Given the description of an element on the screen output the (x, y) to click on. 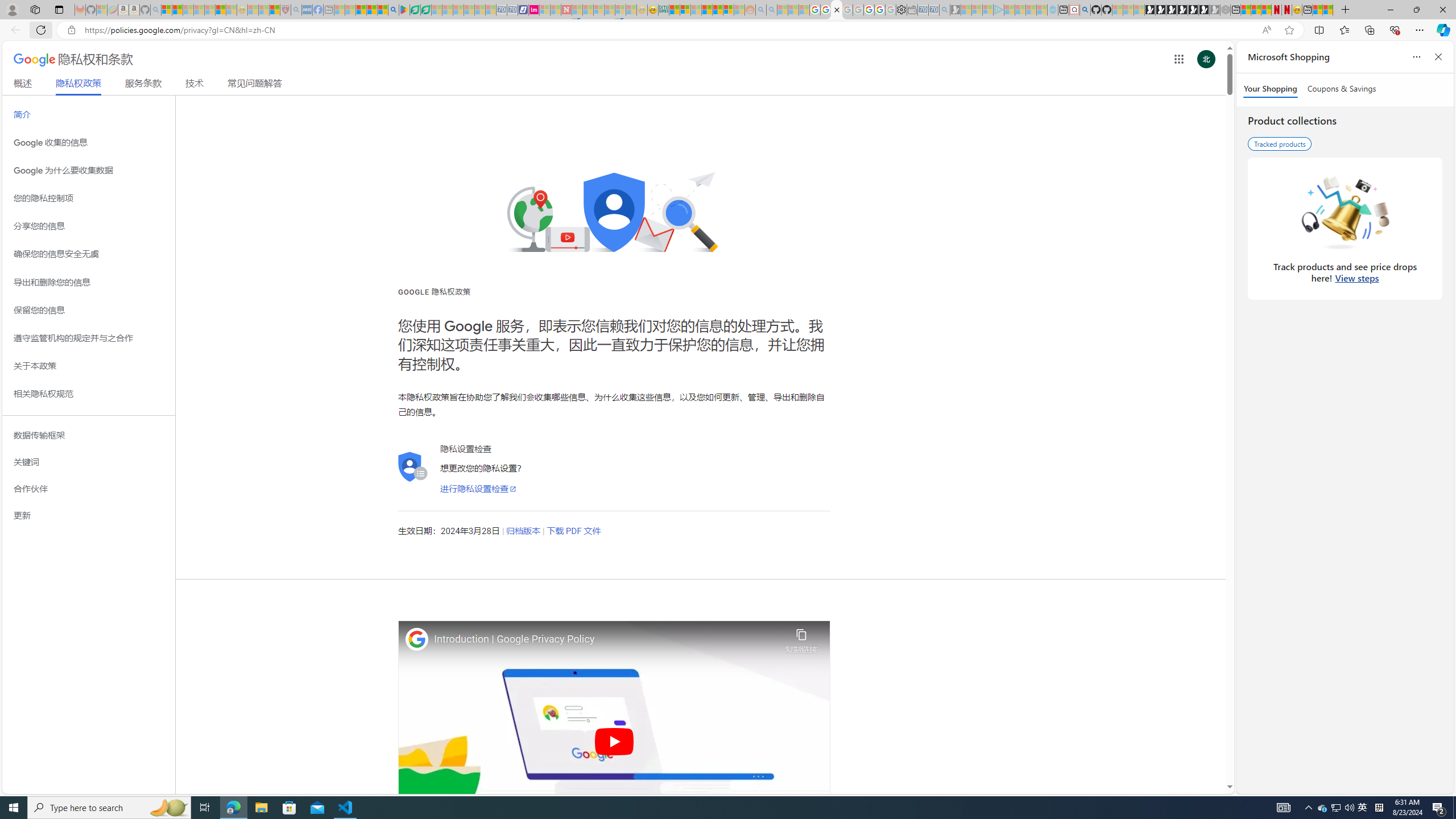
Local - MSN (274, 9)
